Given the description of an element on the screen output the (x, y) to click on. 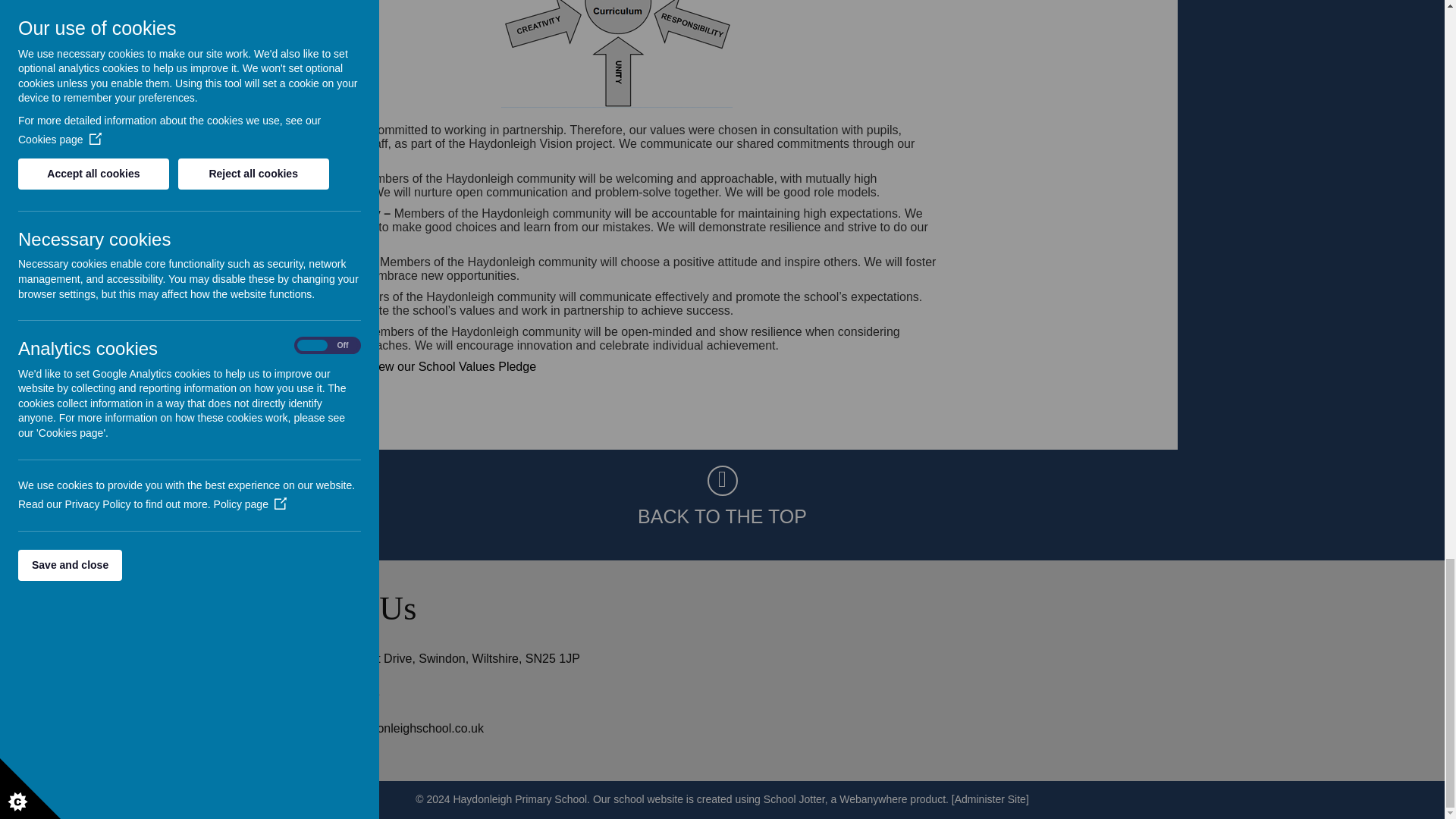
Click here to view our School Values Pledge (416, 366)
